Given the description of an element on the screen output the (x, y) to click on. 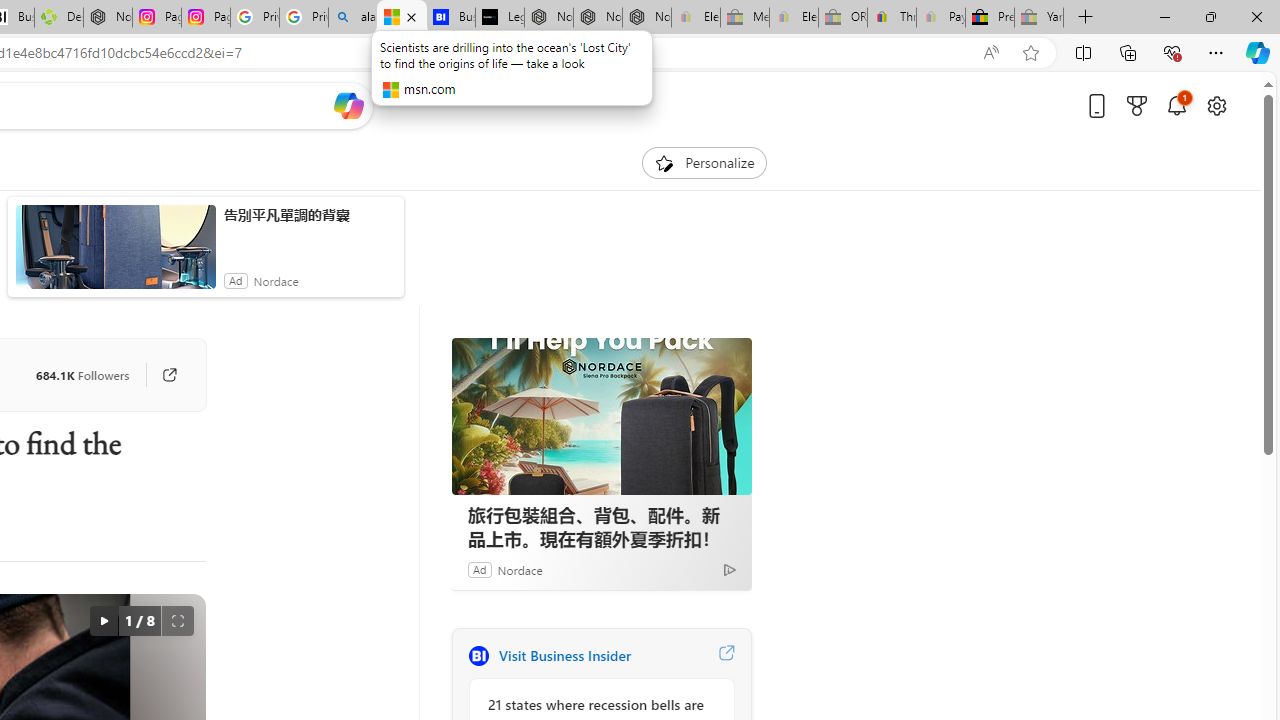
Business Insider (478, 655)
Threats and offensive language policy | eBay (891, 17)
